Given the description of an element on the screen output the (x, y) to click on. 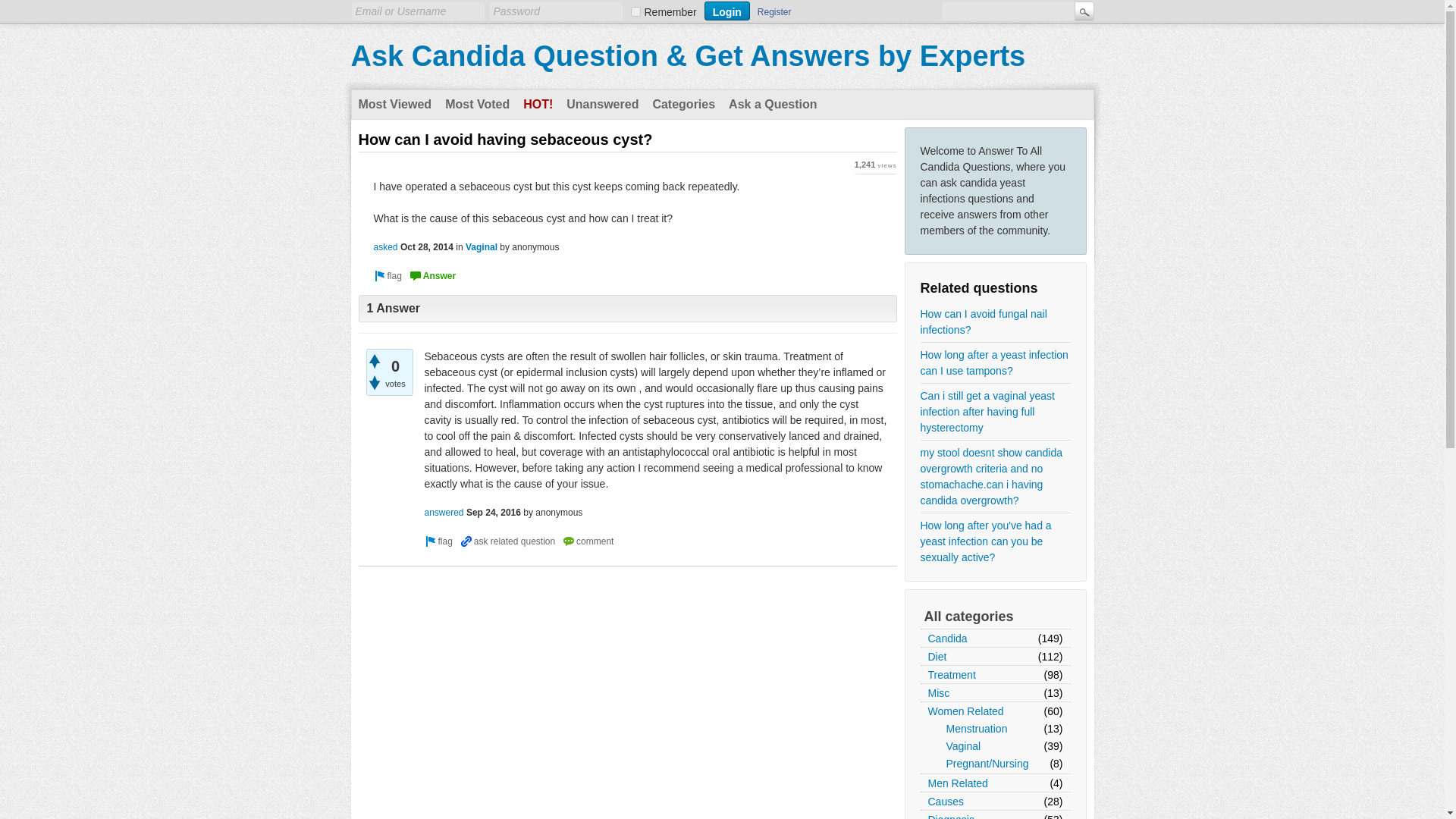
Menstruation (976, 729)
Ask a Question (773, 104)
asked (384, 246)
Add a comment on this answer (587, 541)
Diet (937, 657)
Vaginal (963, 746)
Login (726, 10)
Vaginal (481, 246)
Login (726, 10)
